Given the description of an element on the screen output the (x, y) to click on. 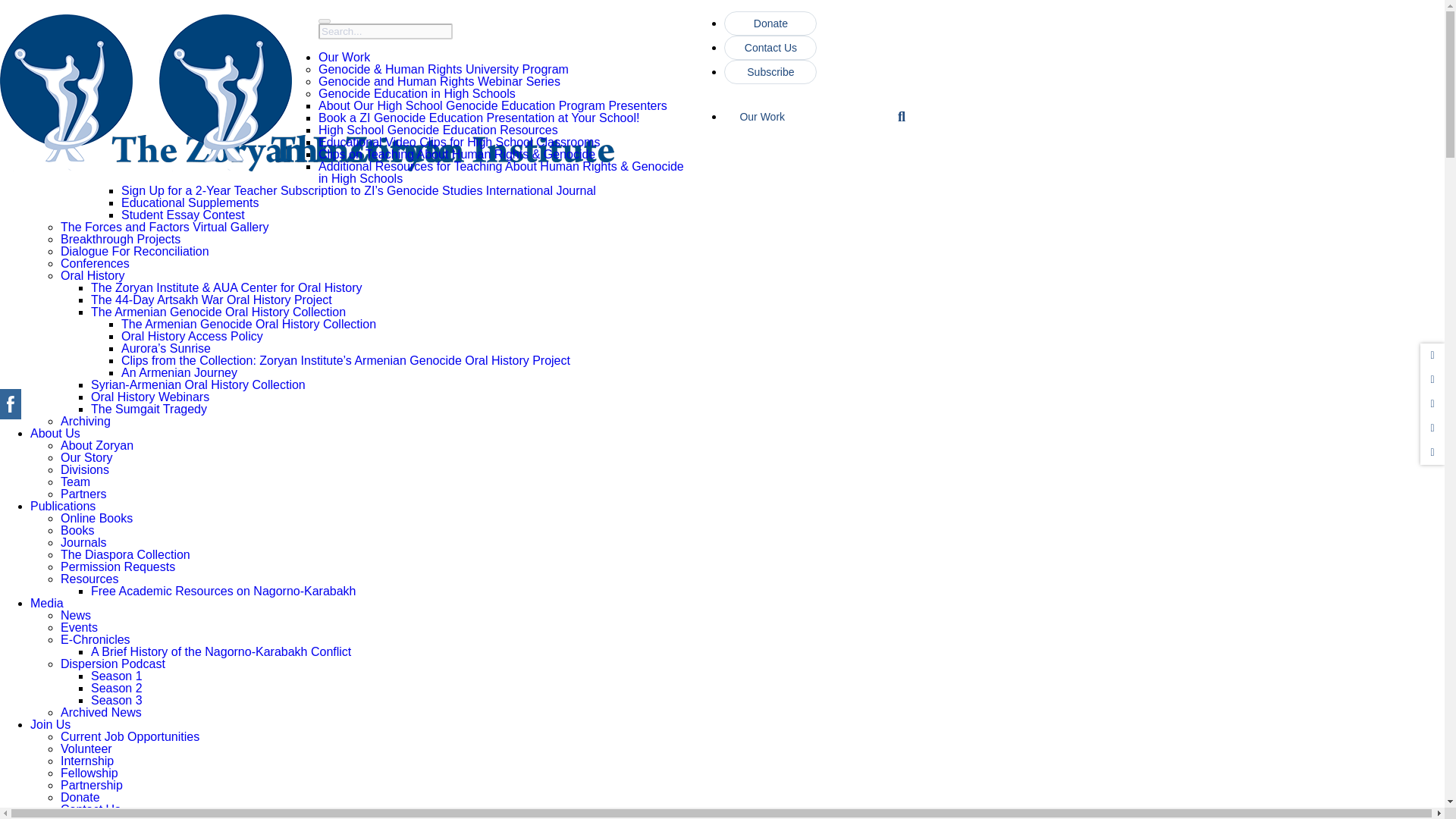
Our Work (808, 122)
Contact Us (769, 47)
Donate (769, 23)
Subscribe (769, 71)
